Given the description of an element on the screen output the (x, y) to click on. 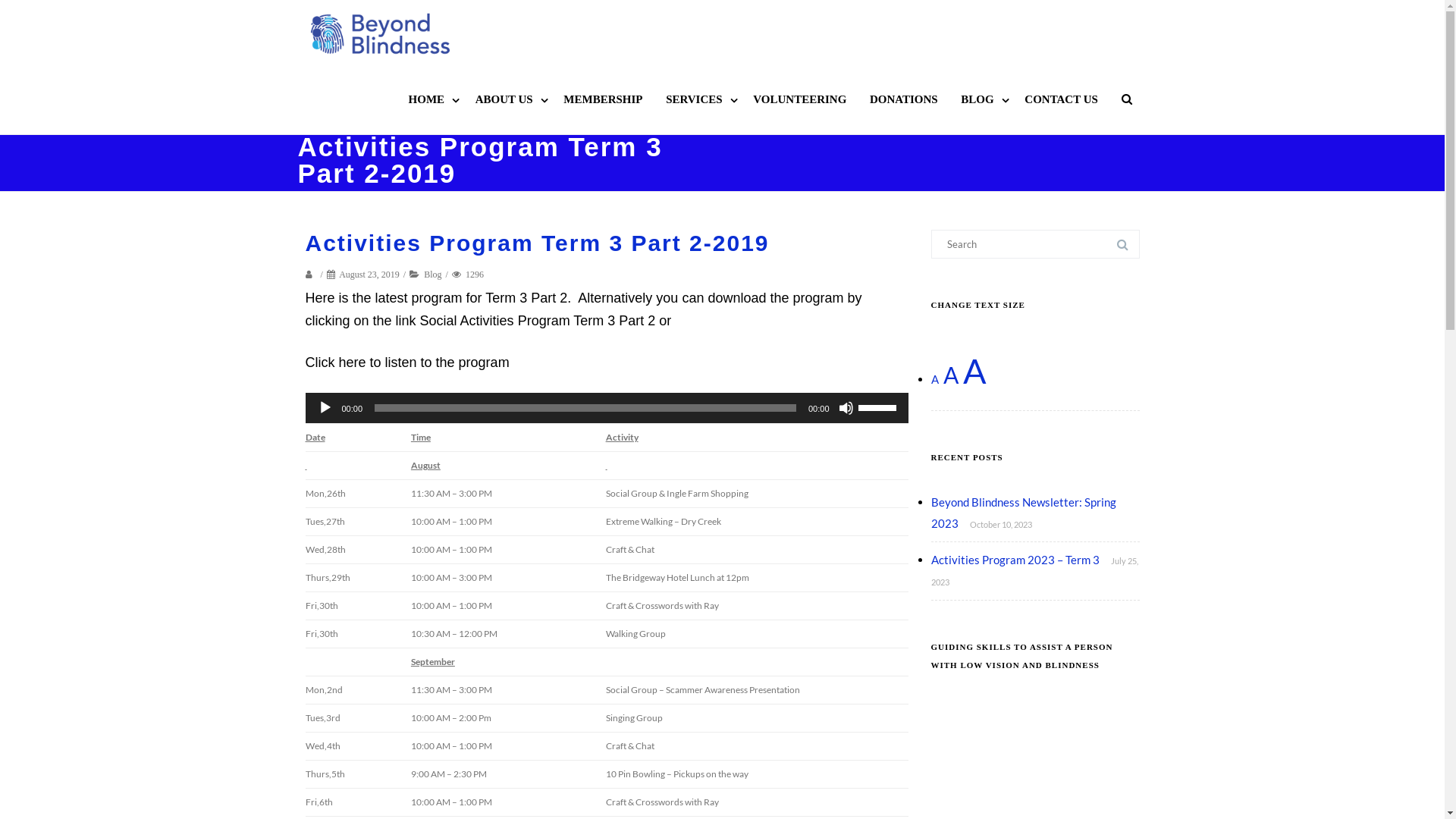
ABOUT US Element type: text (507, 99)
Beyond Blindness Element type: hover (382, 32)
MEMBERSHIP Element type: text (602, 99)
Play Element type: hover (324, 407)
Use Up/Down Arrow keys to increase or decrease volume. Element type: text (879, 406)
HOME Element type: text (430, 99)
VOLUNTEERING Element type: text (799, 99)
A Element type: text (974, 370)
A Element type: text (950, 374)
SERVICES Element type: text (697, 99)
A Element type: text (934, 378)
BLOG Element type: text (980, 99)
Beyond Blindness Newsletter: Spring 2023 Element type: text (1023, 512)
Blog Element type: text (432, 274)
DONATIONS Element type: text (903, 99)
Mute Element type: hover (845, 407)
Search for: Element type: hover (1035, 243)
CONTACT US Element type: text (1061, 99)
